Given the description of an element on the screen output the (x, y) to click on. 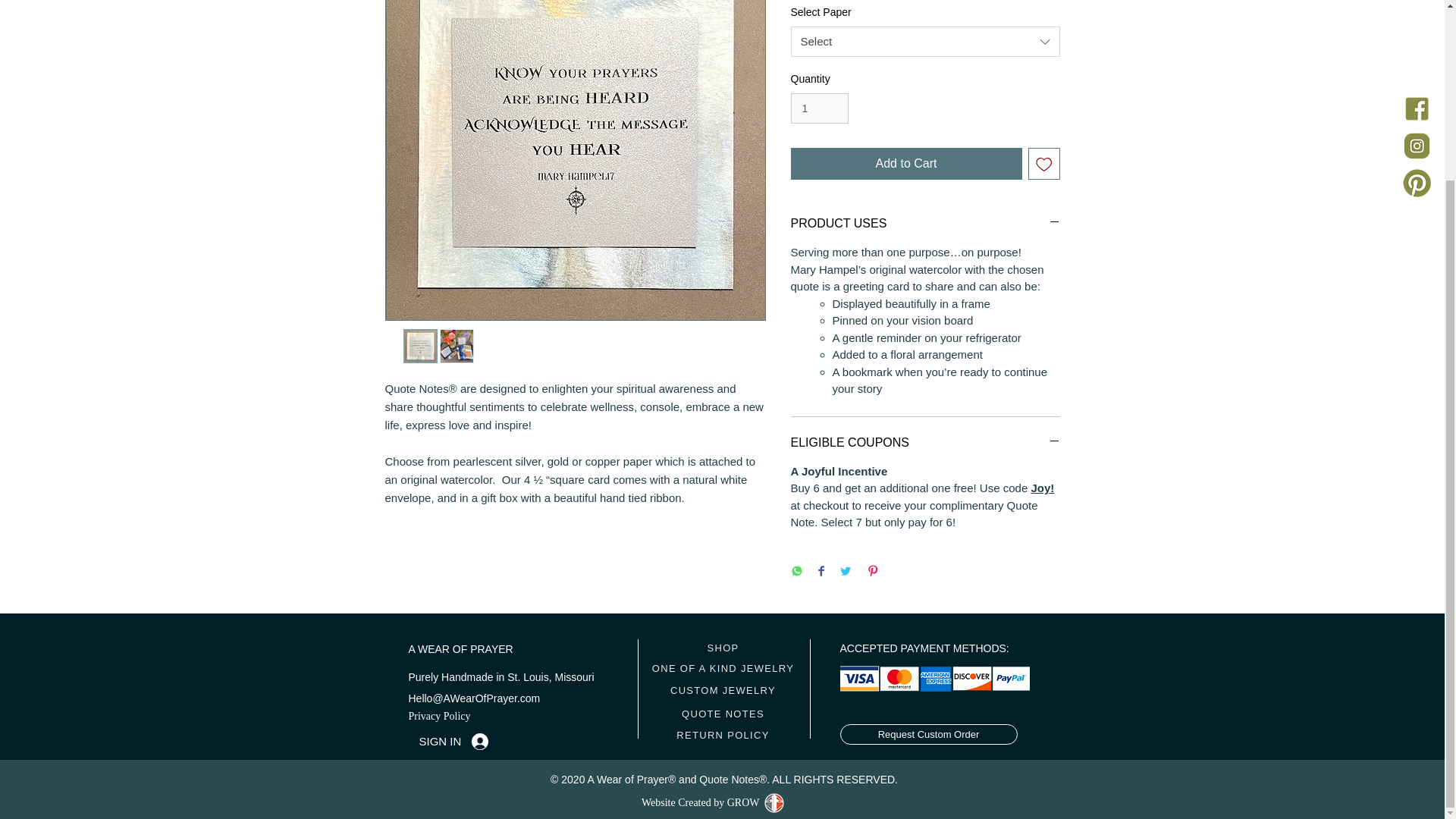
Website Created by GROW (701, 801)
ONE OF A KIND JEWELRY (723, 668)
CUSTOM JEWELRY (723, 690)
1 (818, 108)
PRODUCT USES (924, 223)
QUOTE NOTES (723, 713)
RETURN POLICY (723, 734)
A WEAR OF PRAYER (459, 648)
Select (924, 41)
ELIGIBLE COUPONS (924, 442)
Request Custom Order (928, 733)
SHOP (723, 648)
Privacy Policy (438, 715)
SIGN IN (453, 741)
Add to Cart (906, 163)
